Given the description of an element on the screen output the (x, y) to click on. 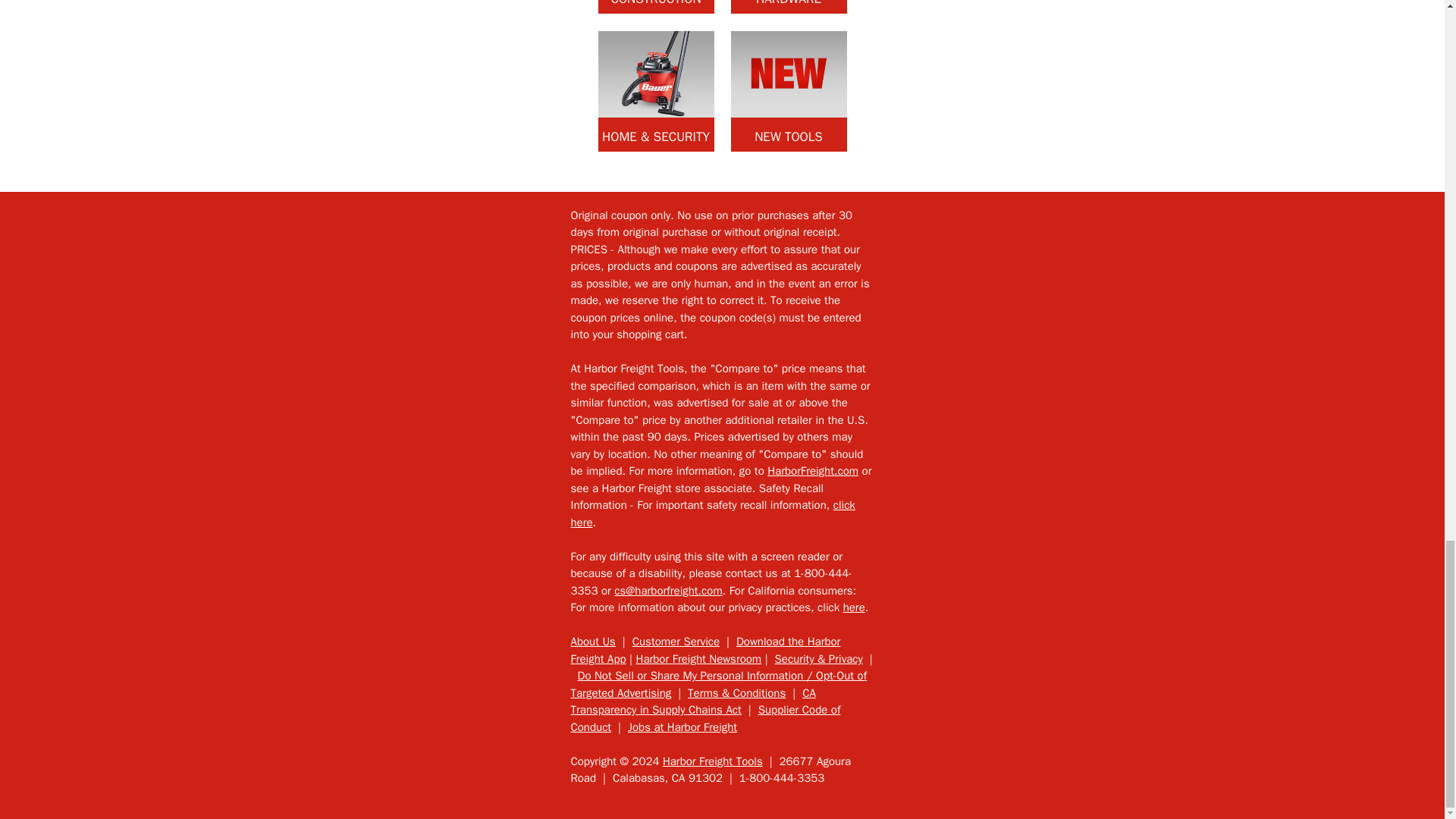
About Us (592, 641)
Customer Service (675, 641)
here (853, 607)
click here (712, 513)
HARDWARE (788, 6)
Download the Harbor Freight App (705, 649)
Harbor Freight Tools Jobs (681, 726)
CONSTRUCTION (654, 6)
Harbor Freight Newsroom (697, 658)
NEW TOOLS (788, 91)
